Given the description of an element on the screen output the (x, y) to click on. 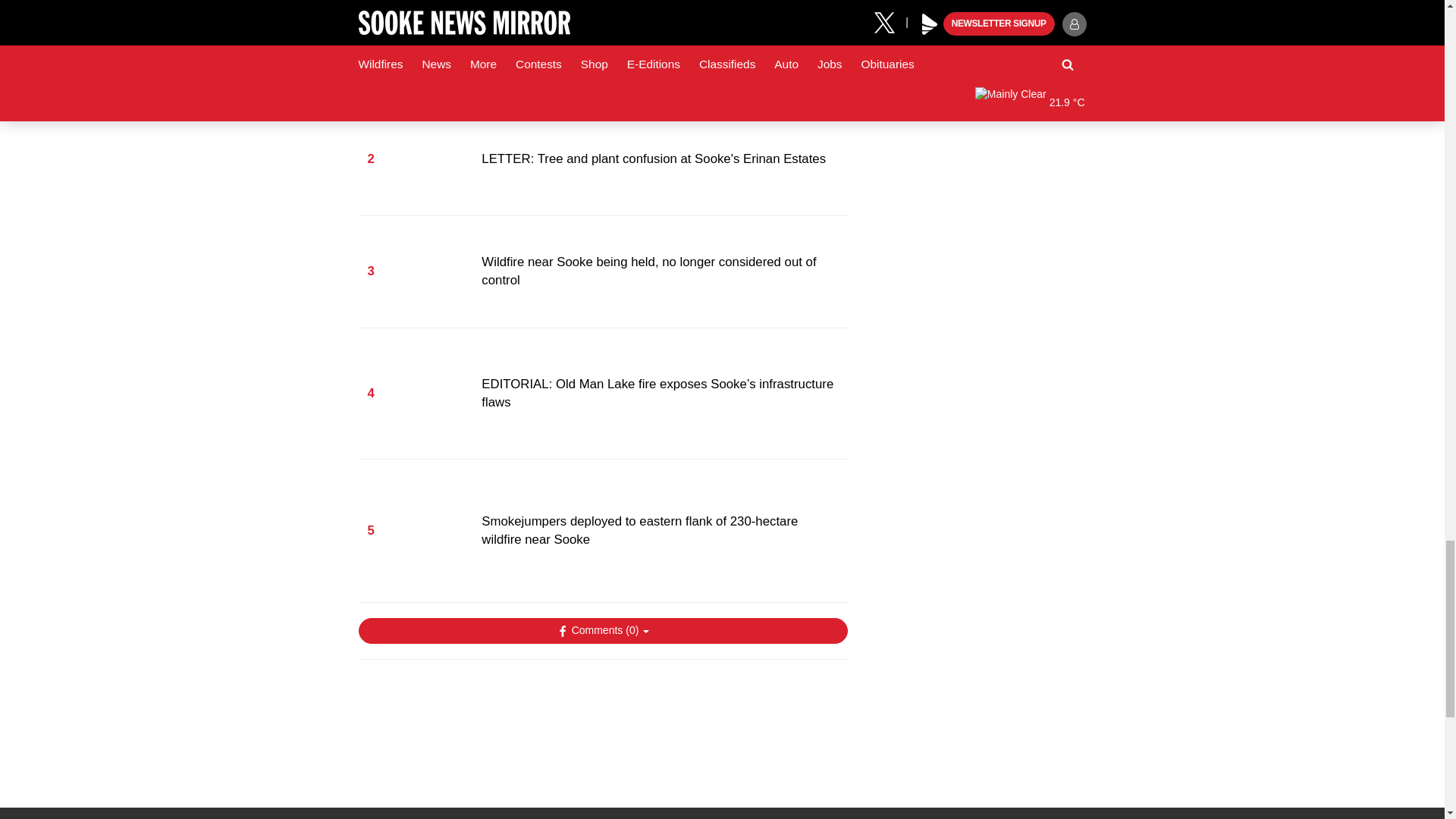
Show Comments (602, 630)
